Given the description of an element on the screen output the (x, y) to click on. 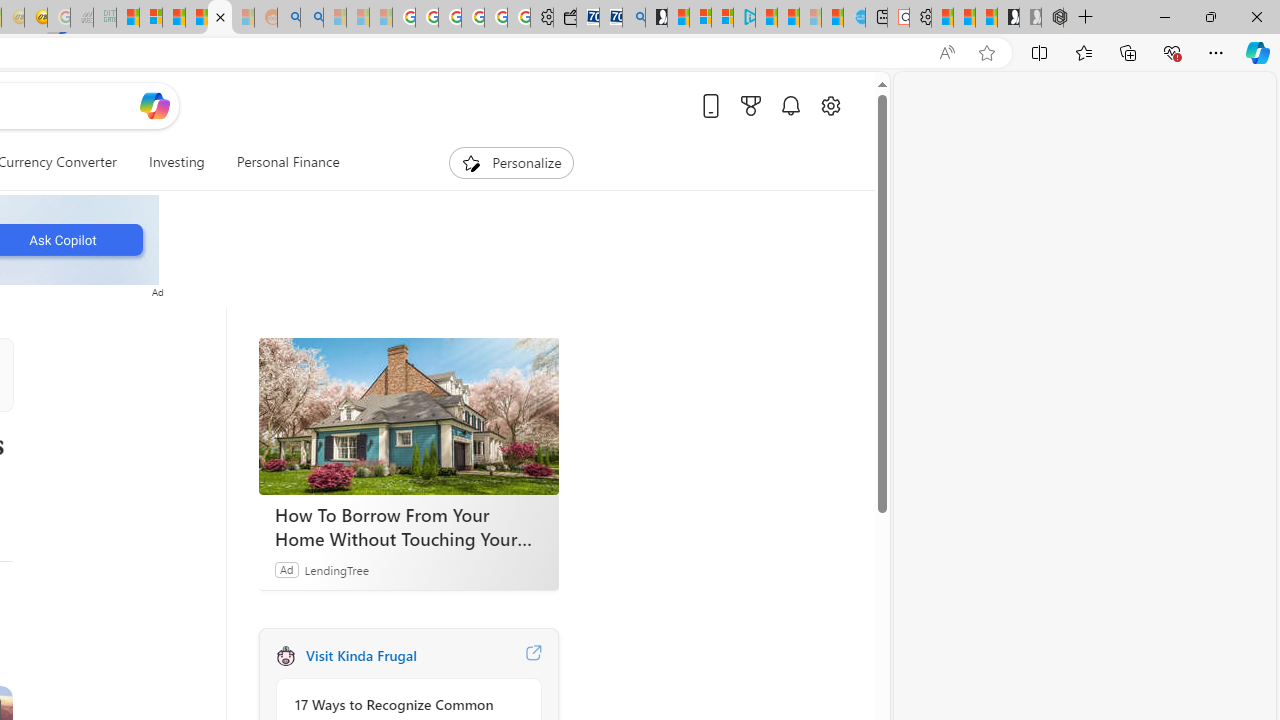
Student Loan Update: Forgiveness Program Ends This Month (196, 17)
Play Free Online Games | Games from Microsoft Start (1008, 17)
Investing (176, 162)
Ad (286, 569)
DITOGAMES AG Imprint - Sleeping (104, 17)
